Given the description of an element on the screen output the (x, y) to click on. 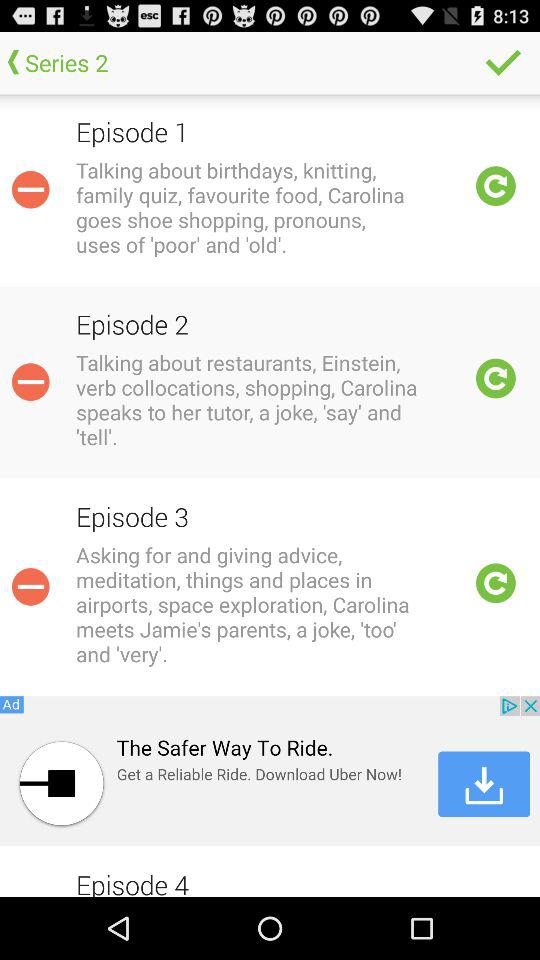
shrink option (30, 382)
